Given the description of an element on the screen output the (x, y) to click on. 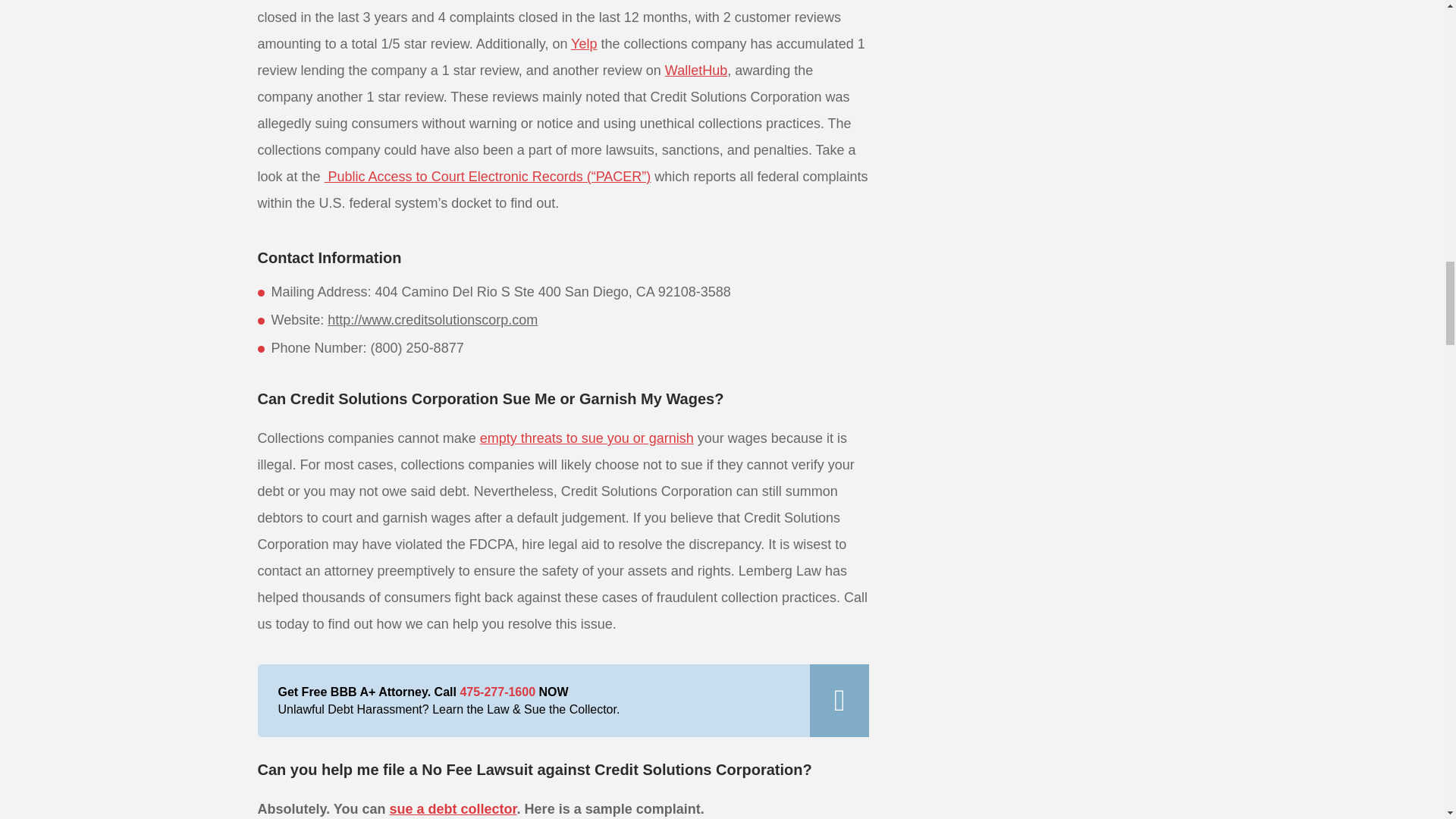
empty threats to sue you or garnish (587, 437)
WalletHub (695, 70)
sue a debt collector (453, 808)
475-277-1600 (497, 691)
Yelp (583, 43)
